Given the description of an element on the screen output the (x, y) to click on. 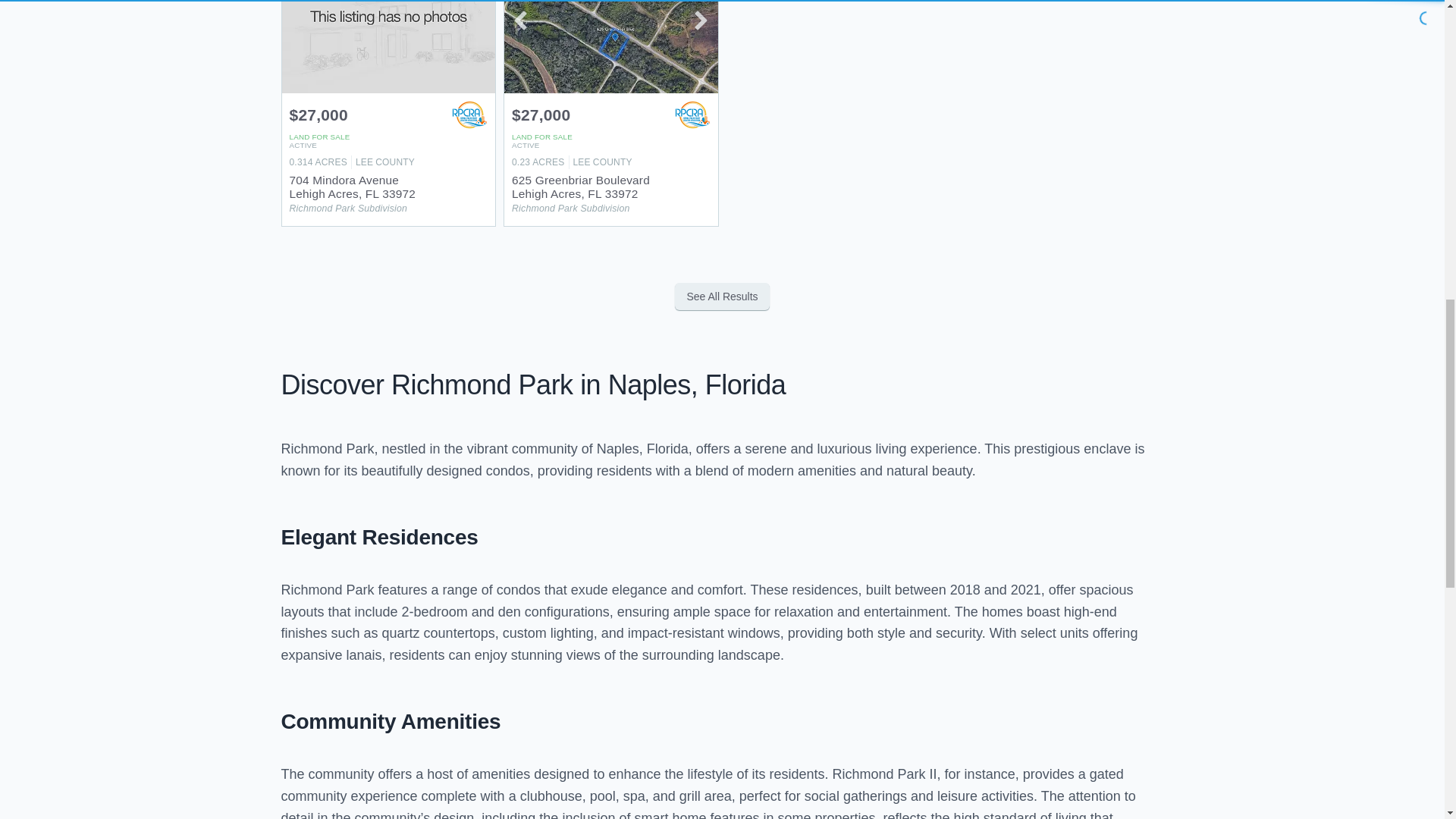
See All Results (721, 296)
704 Mindora Avenue (389, 107)
625 Greenbriar Boulevard (610, 107)
